Given the description of an element on the screen output the (x, y) to click on. 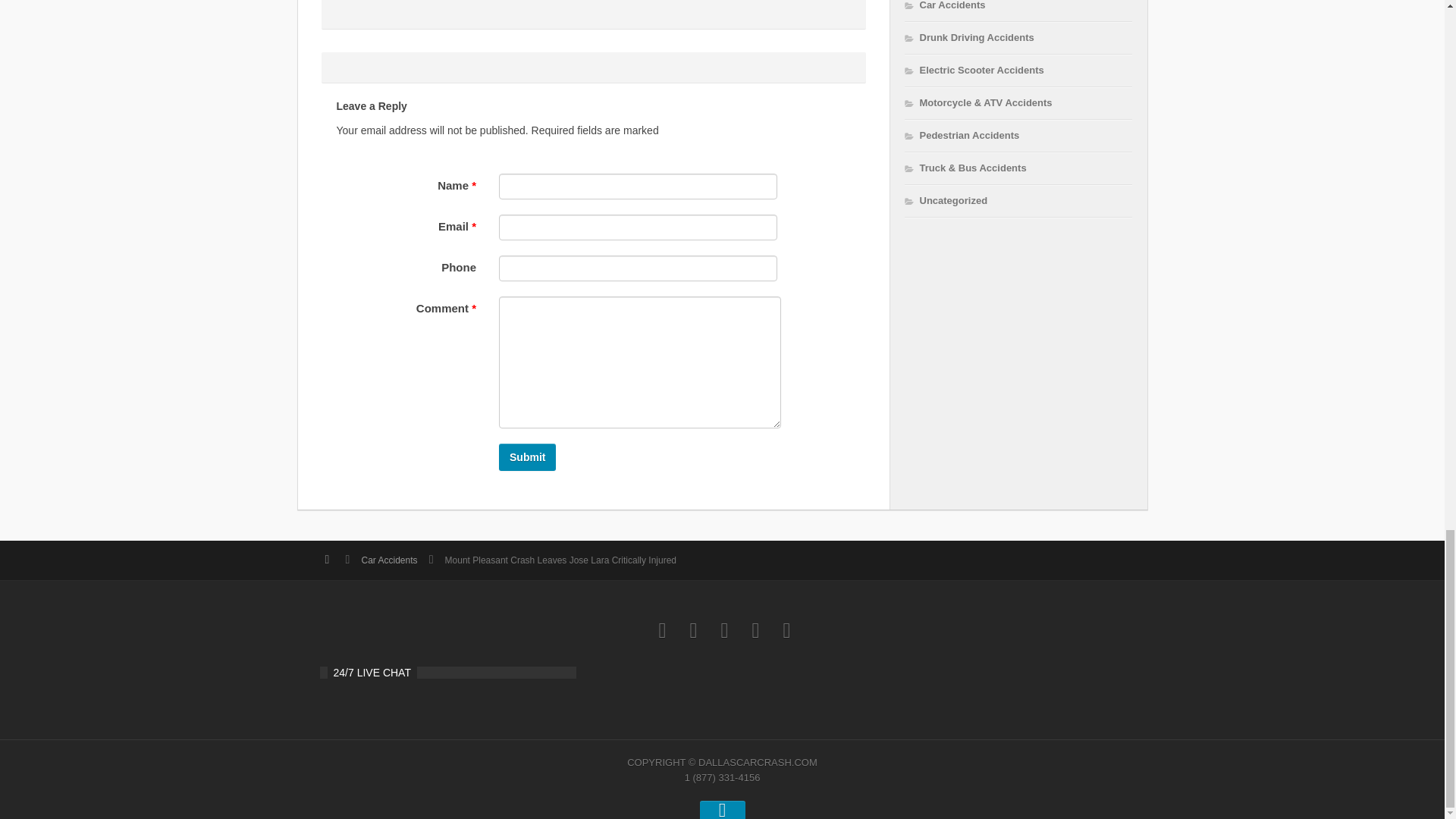
Submit (527, 456)
Call us at 1-877-331-4156 (662, 630)
Facebook (755, 630)
Feed (786, 630)
Twitter (692, 630)
Submit (527, 456)
